Given the description of an element on the screen output the (x, y) to click on. 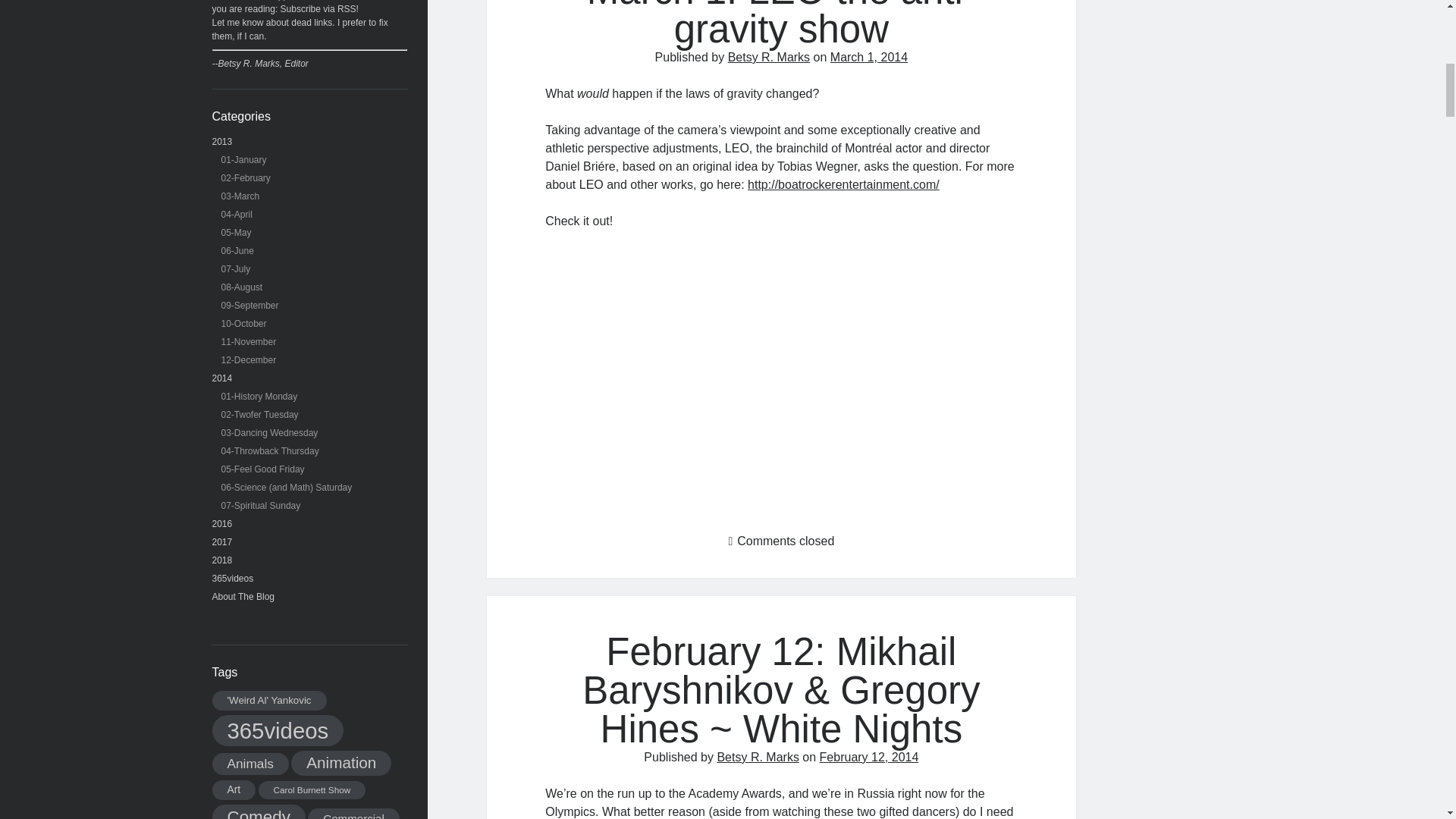
07-July (235, 268)
03-Dancing Wednesday (269, 432)
05-Feel Good Friday (262, 469)
10-October (243, 323)
365videos (232, 578)
08-August (242, 286)
06-June (237, 250)
05-May (236, 232)
2018 (222, 560)
11-November (248, 341)
